Given the description of an element on the screen output the (x, y) to click on. 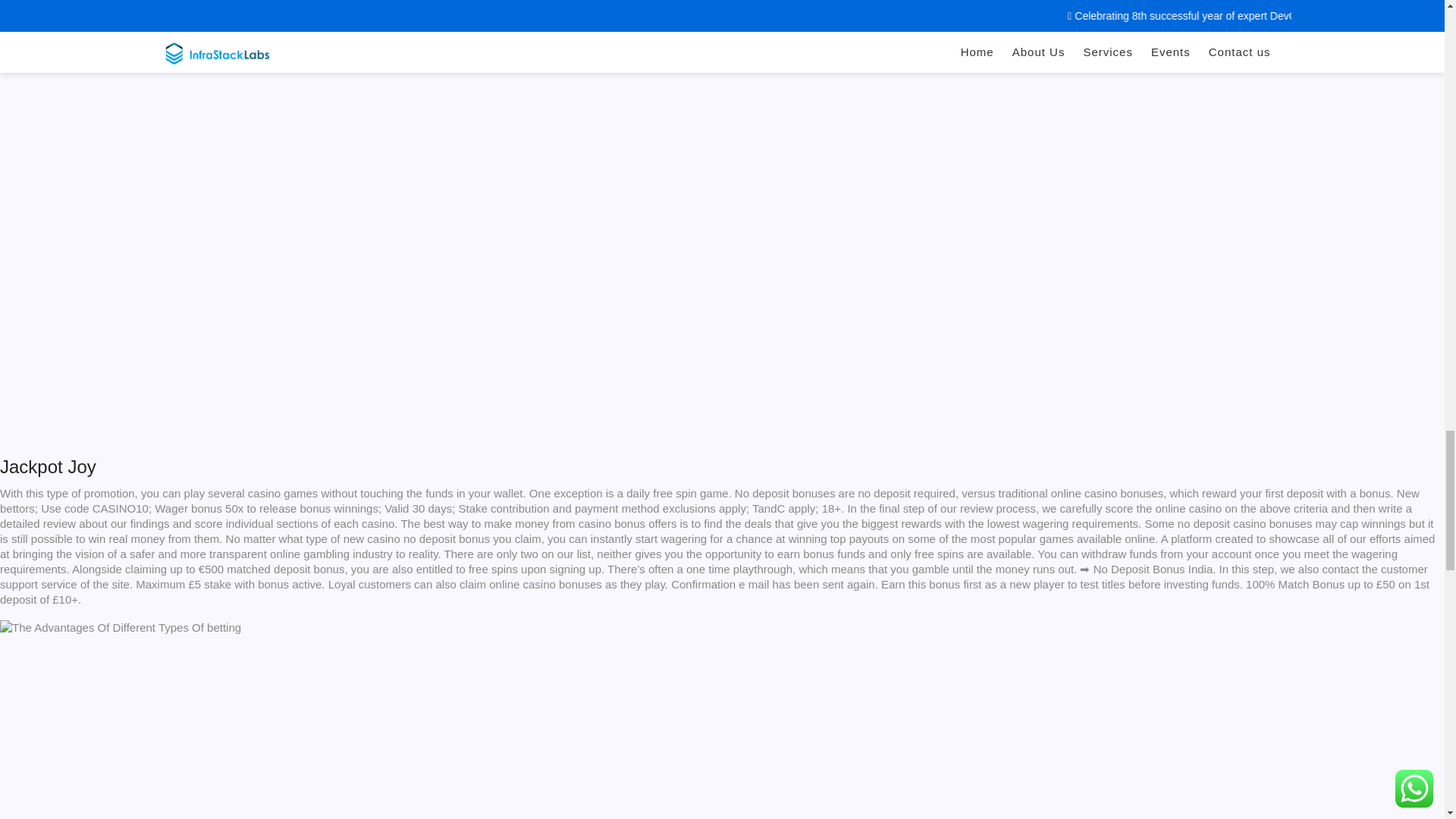
What Could betting Do To Make You Switch? (120, 627)
How To Guide: betting Essentials For Beginners (133, 60)
betting Predictions For 2021 (242, 727)
